Given the description of an element on the screen output the (x, y) to click on. 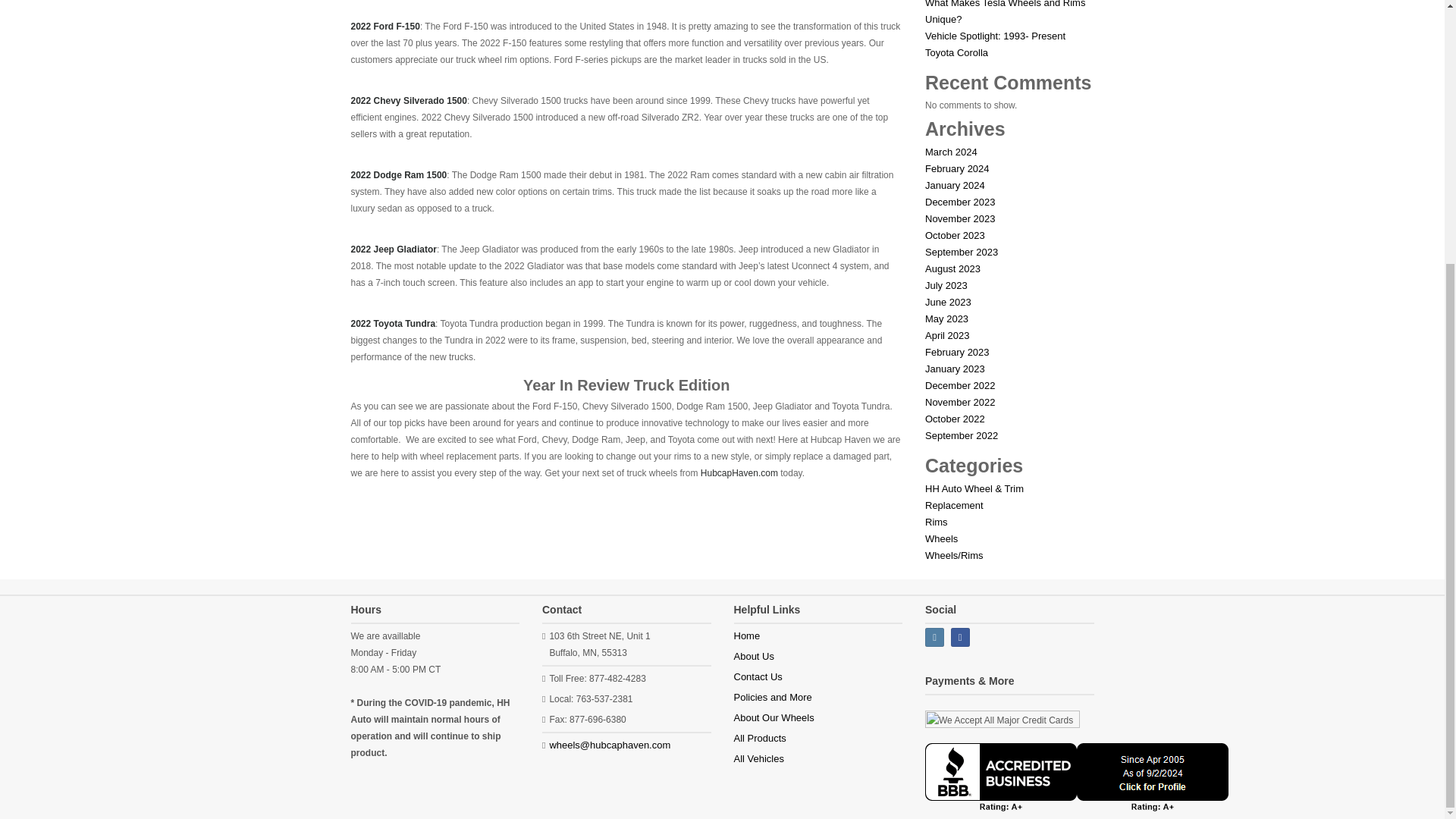
What Makes Tesla Wheels and Rims Unique? (1004, 12)
HubcapHaven.com (738, 472)
Vehicle Spotlight: 1993- Present Toyota Corolla (994, 44)
October 2023 (954, 235)
2022 Chevy Silverado 1500 (407, 100)
November 2023 (959, 218)
March 2024 (950, 152)
Hubcap Distributors, Inc., Wheels, Buffalo, MN (1076, 776)
2022 Toyota Tundra (392, 323)
February 2024 (957, 168)
